Given the description of an element on the screen output the (x, y) to click on. 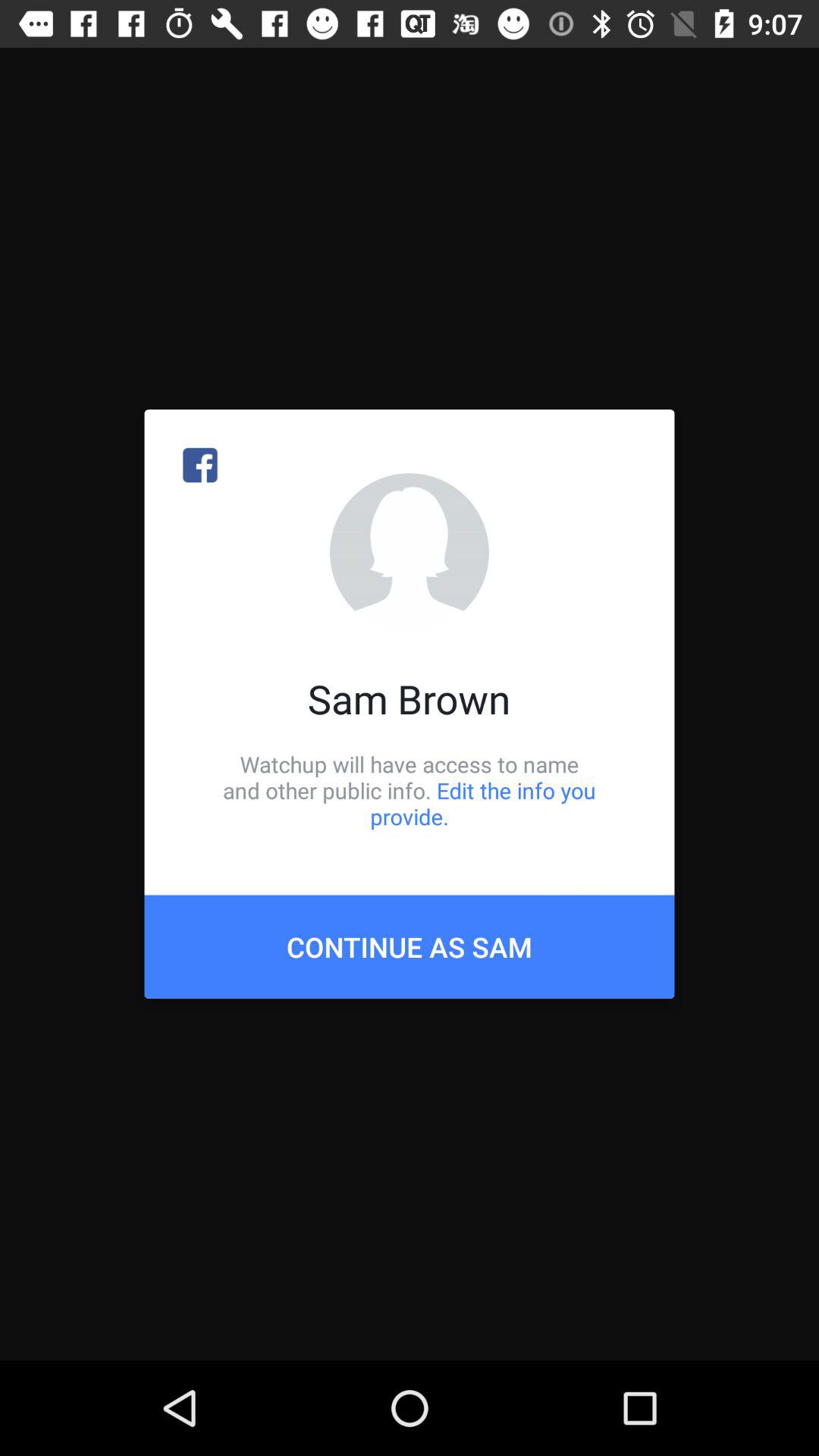
choose the continue as sam icon (409, 946)
